Given the description of an element on the screen output the (x, y) to click on. 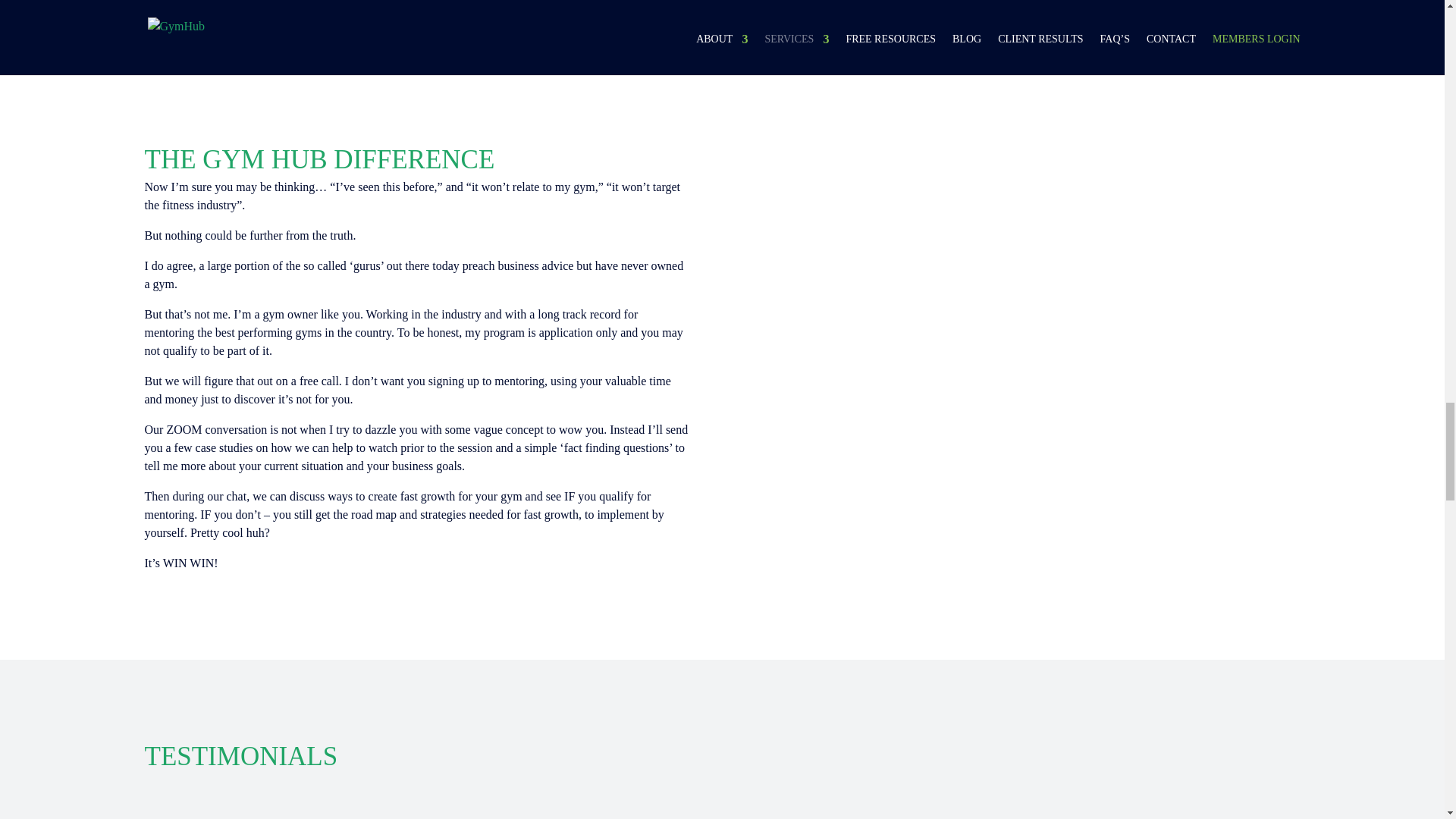
Alec Draffin (325, 811)
ben thompson f45 (722, 811)
Jesse Robbins (1118, 811)
